Given the description of an element on the screen output the (x, y) to click on. 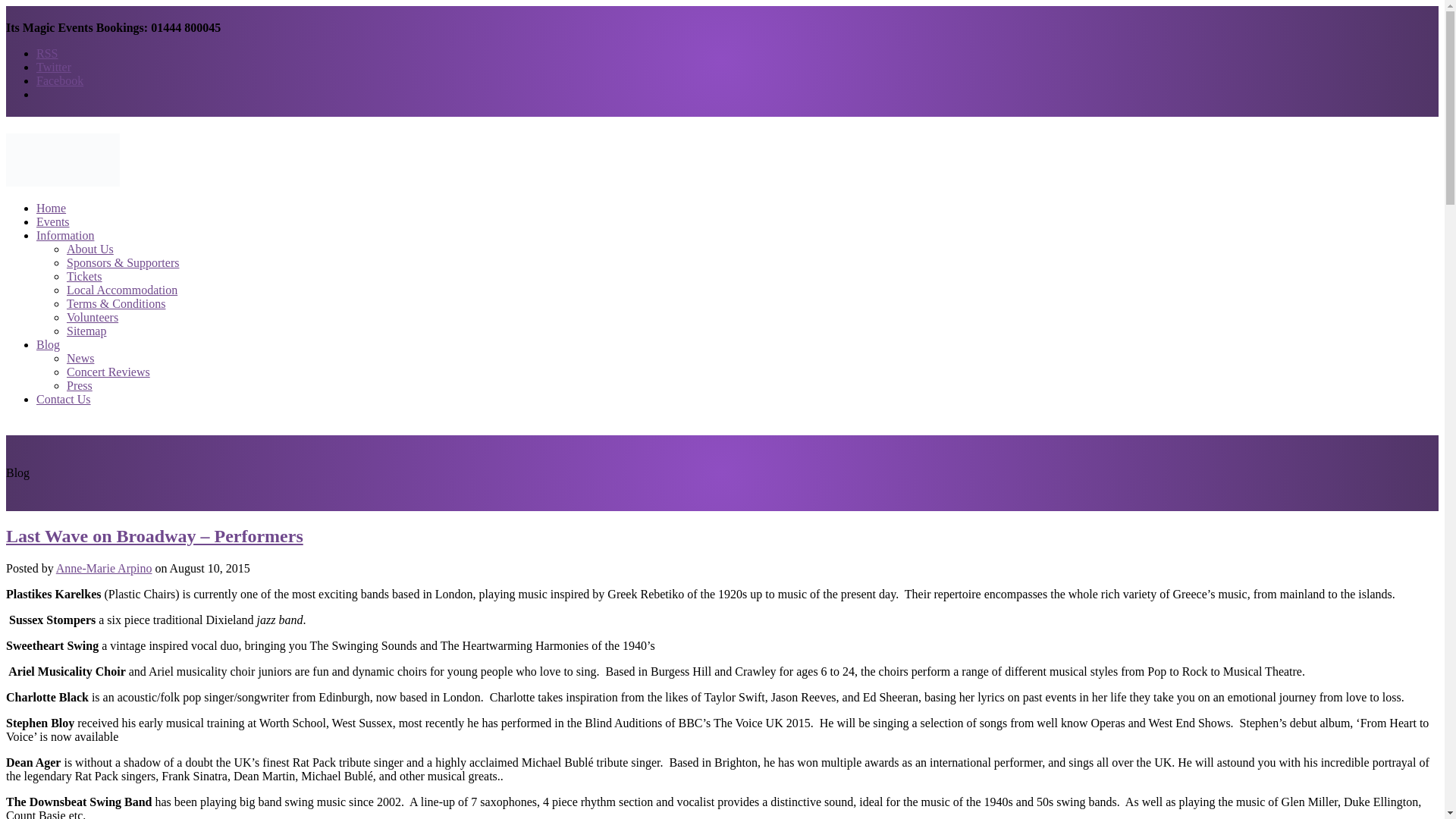
Events (52, 221)
Contact Us (63, 399)
Posts by Anne-Marie Arpino (104, 567)
Sitemap (86, 330)
Press (79, 385)
Concert Reviews (107, 371)
News (80, 358)
Tickets (83, 276)
About Us (89, 248)
Anne-Marie Arpino (104, 567)
